Given the description of an element on the screen output the (x, y) to click on. 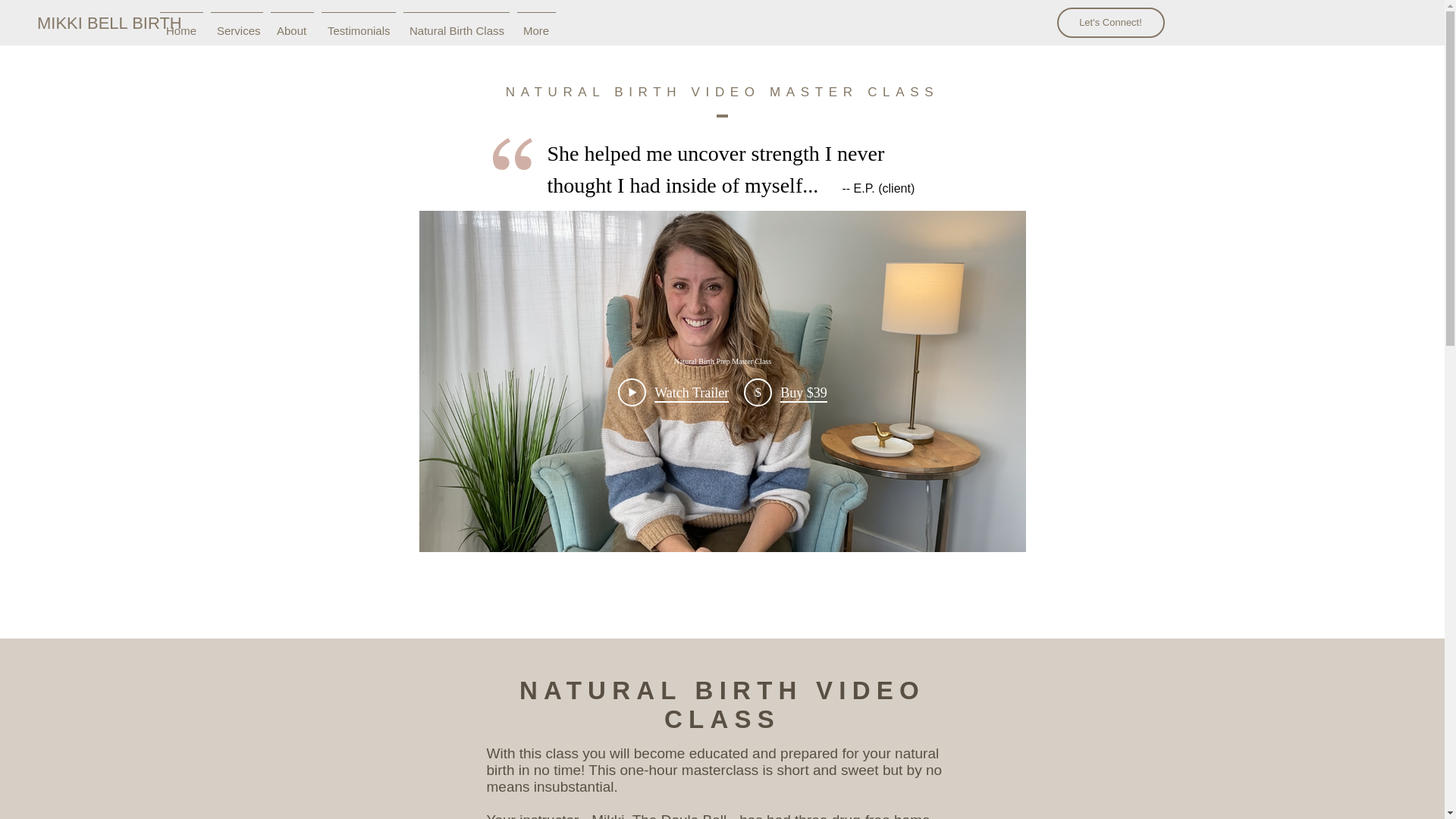
About (291, 24)
Home (180, 24)
Natural Birth Class (455, 24)
Services (236, 24)
MIKKI BELL BIRTH (109, 23)
Let's Connect! (1110, 22)
Natural Birth Prep Master Class (721, 360)
Testimonials (357, 24)
